Given the description of an element on the screen output the (x, y) to click on. 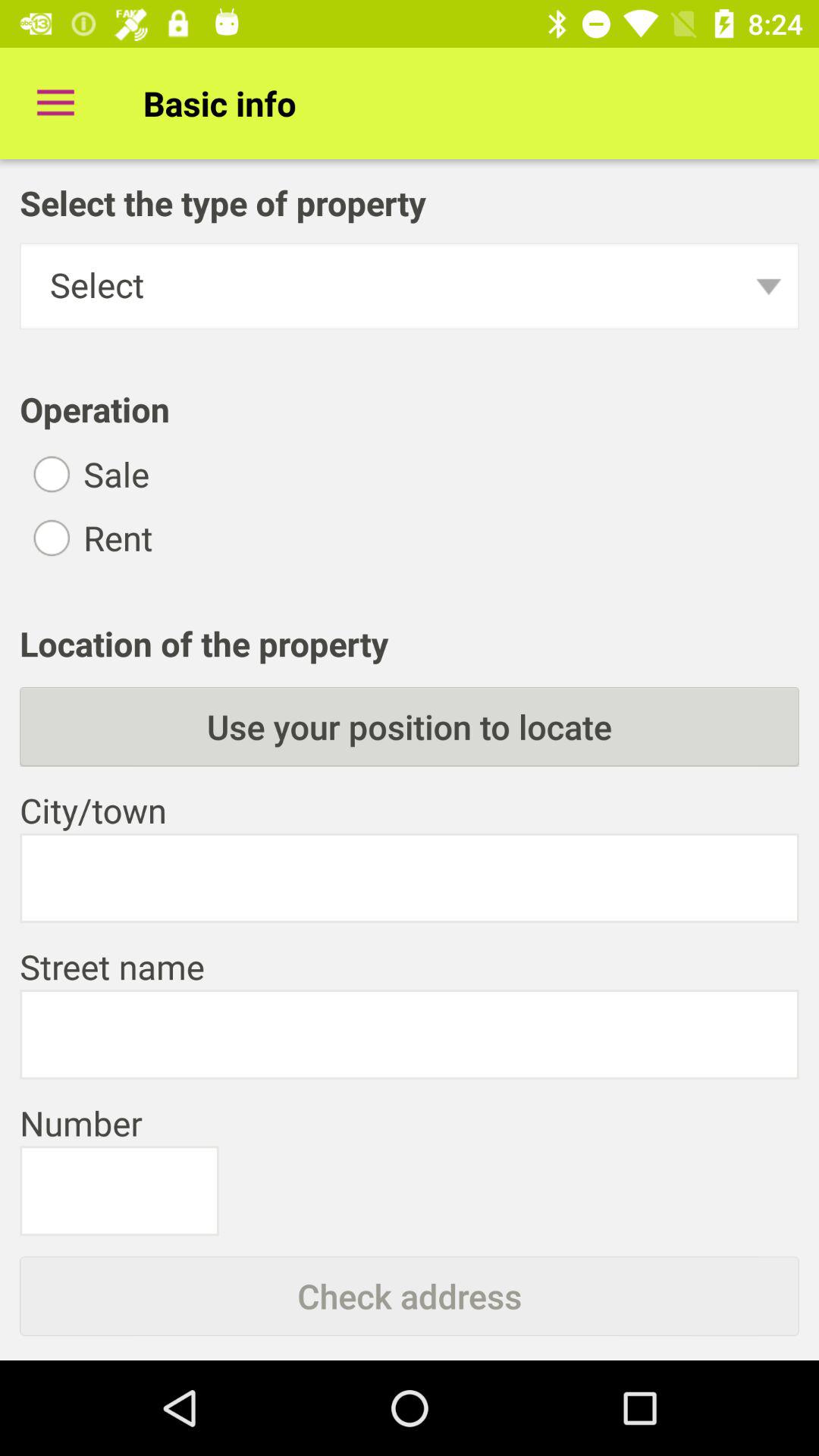
enter information (118, 1190)
